Given the description of an element on the screen output the (x, y) to click on. 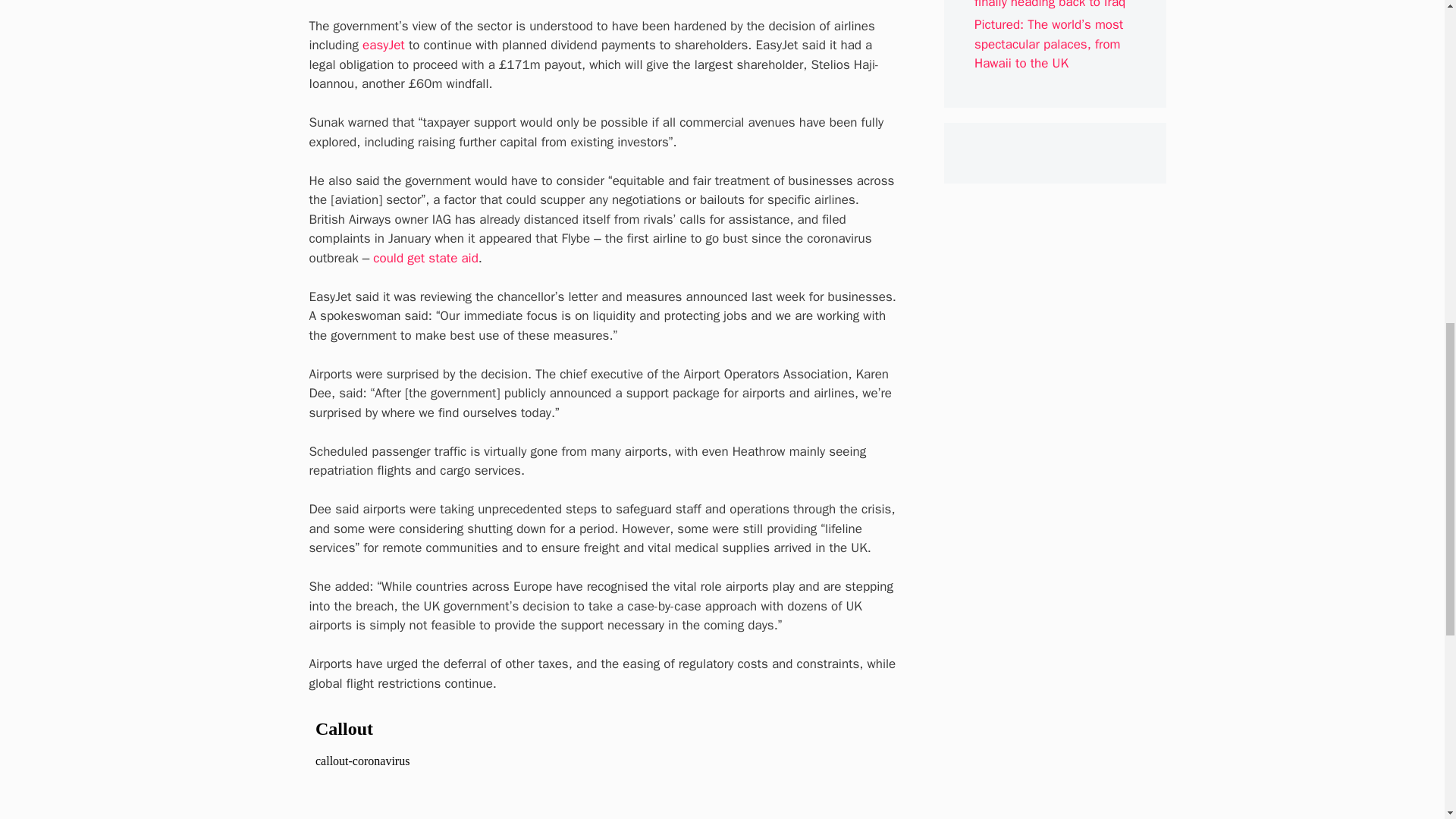
easyJet (383, 44)
could get state aid (425, 258)
